Given the description of an element on the screen output the (x, y) to click on. 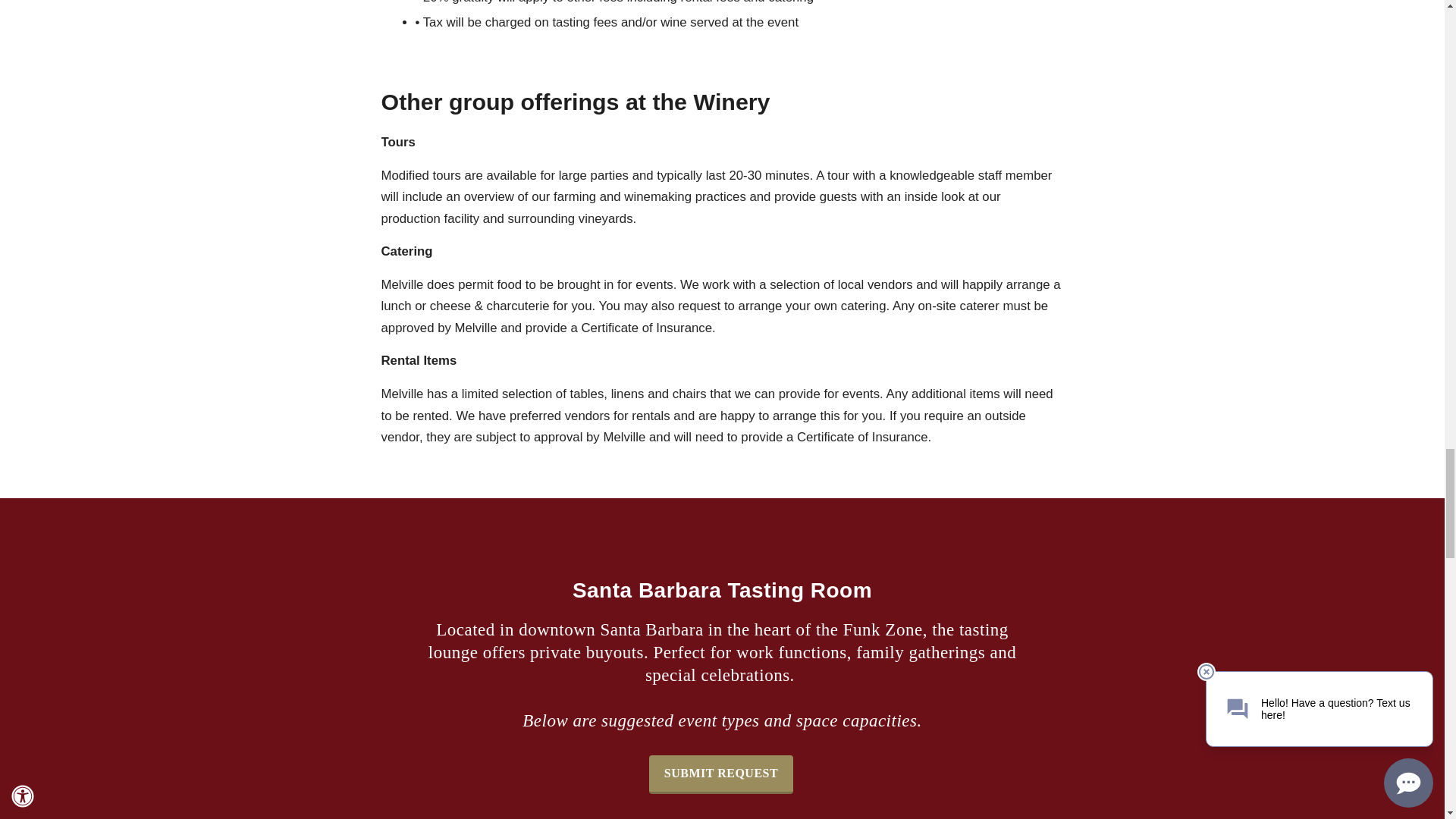
SUBMIT REQUEST (721, 774)
